Given the description of an element on the screen output the (x, y) to click on. 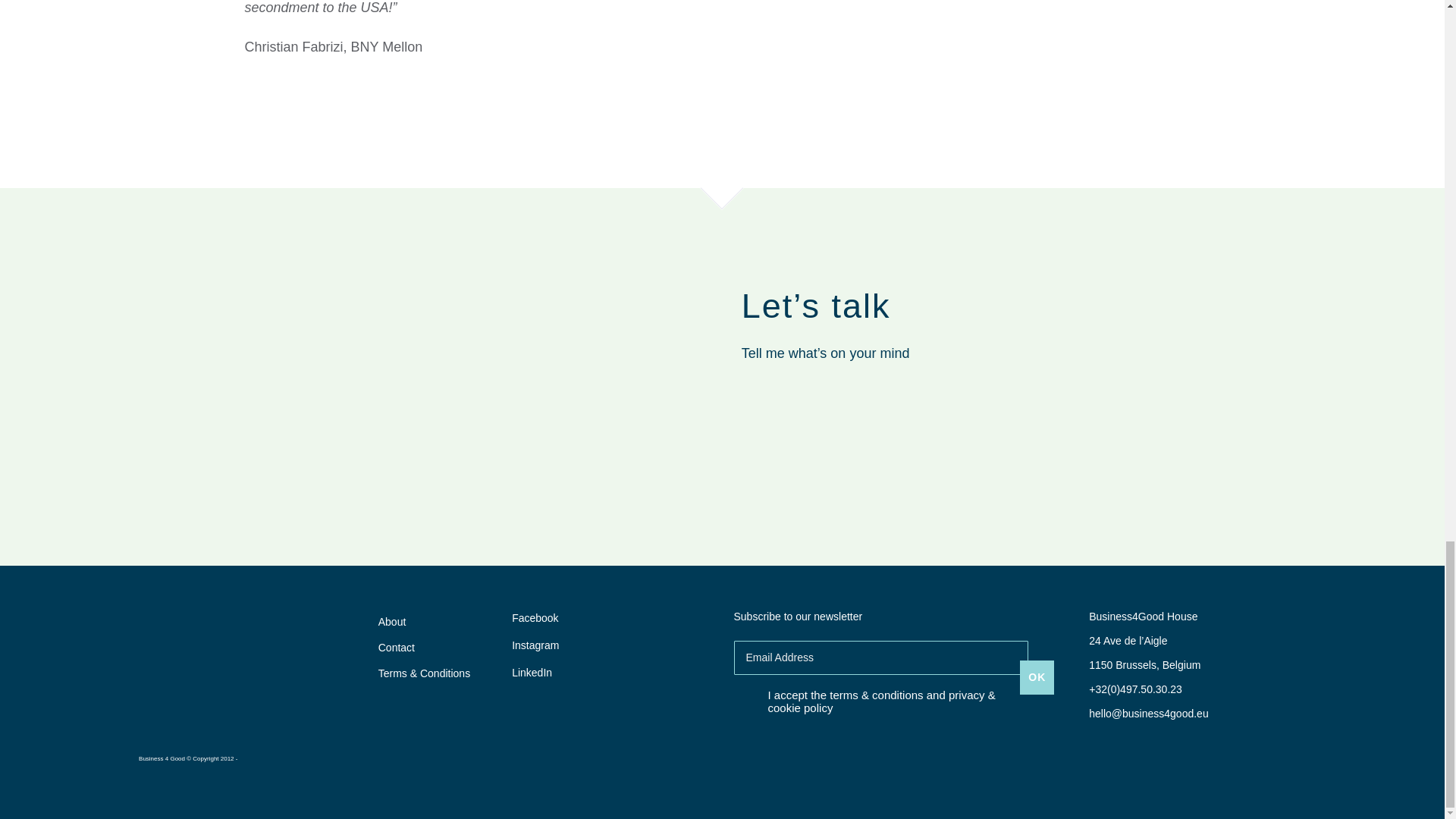
Facebook (531, 617)
OK (1037, 677)
Contact (424, 647)
Instagram (531, 645)
LinkedIn (531, 672)
OK (1037, 677)
About (424, 625)
